Given the description of an element on the screen output the (x, y) to click on. 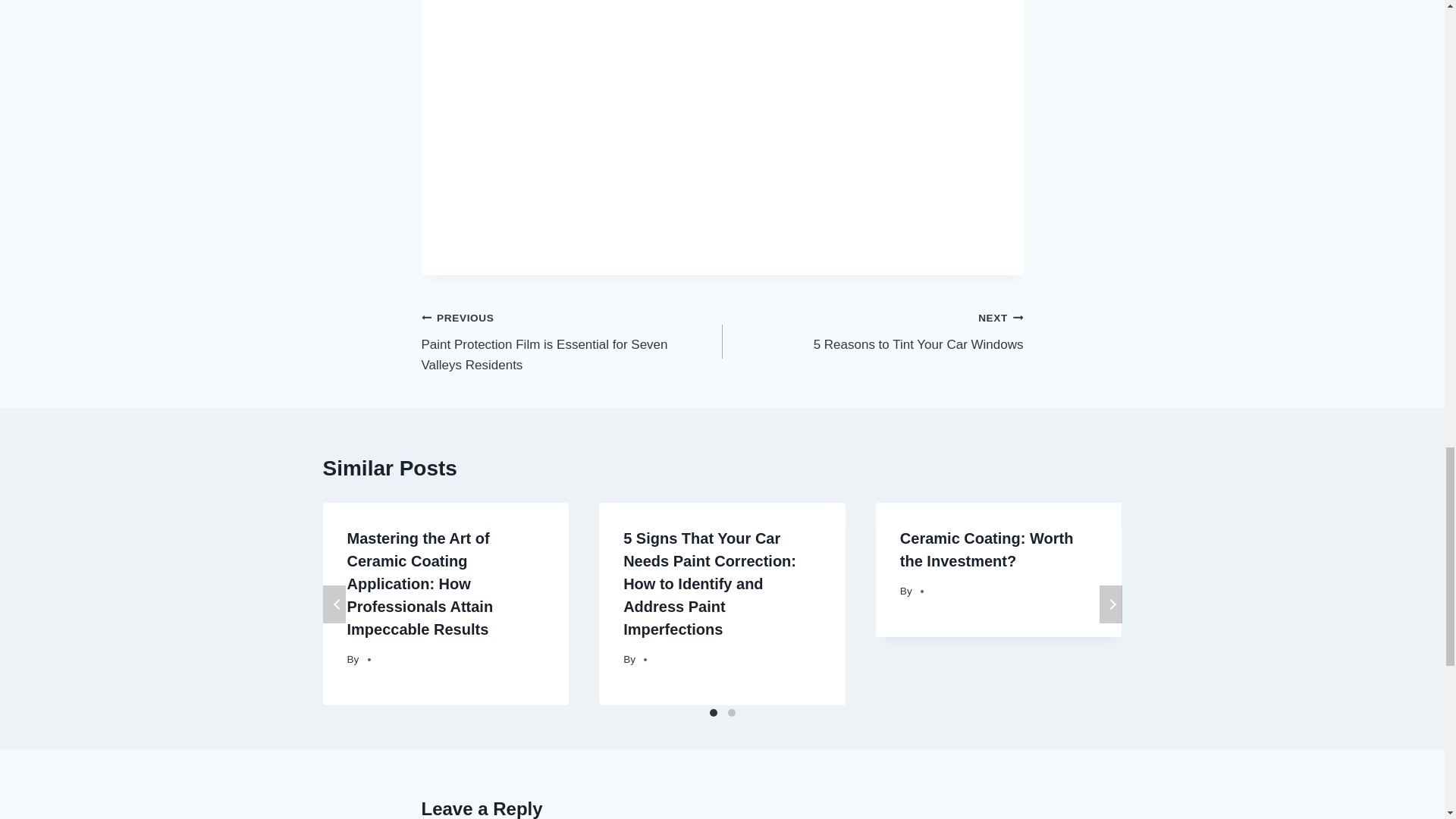
Ceramic Coating: Worth the Investment? (872, 330)
